Given the description of an element on the screen output the (x, y) to click on. 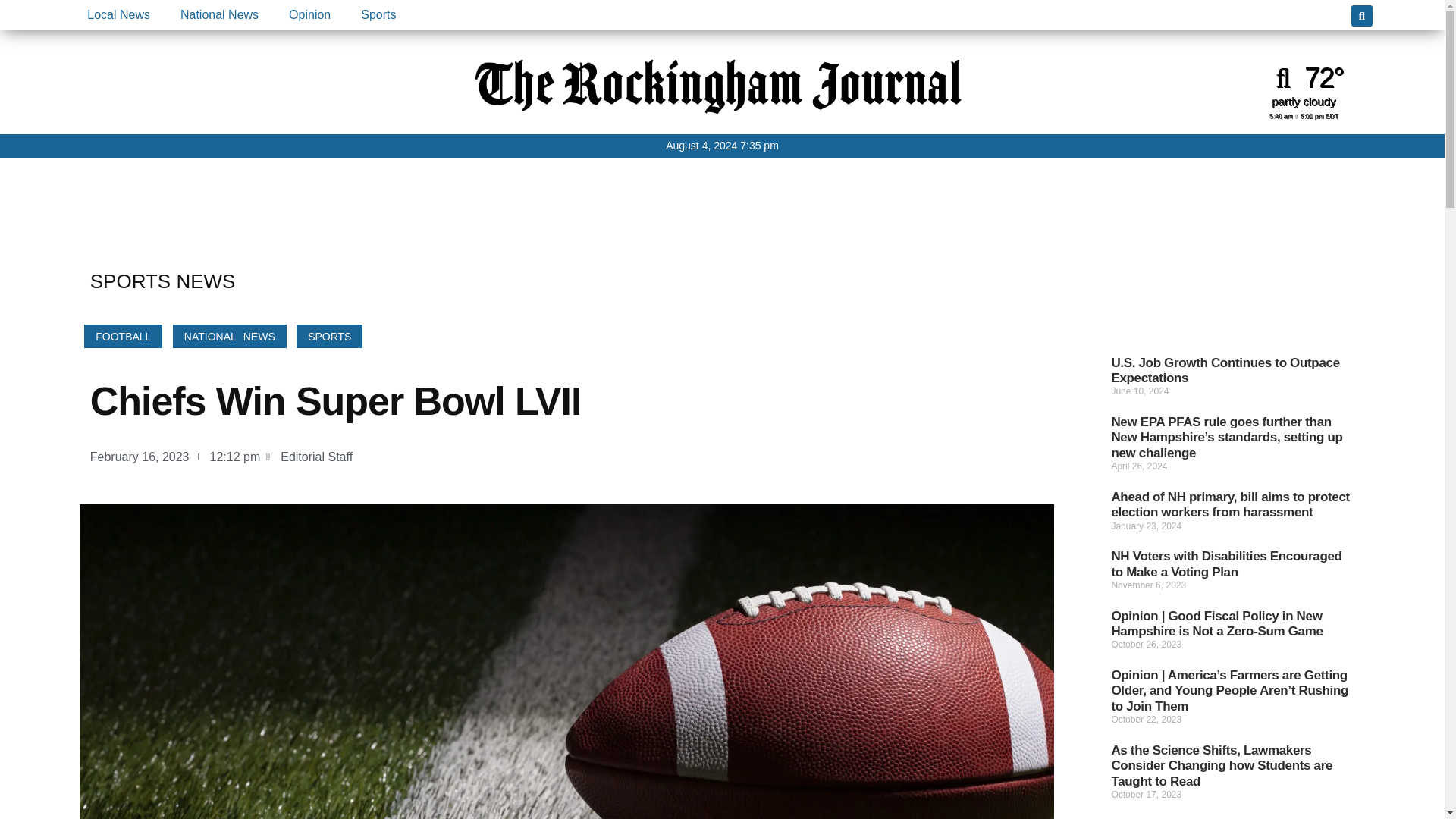
Opinion (309, 14)
National News (219, 14)
SPORTS (329, 336)
Sports (378, 14)
NH Voters with Disabilities Encouraged to Make a Voting Plan (1225, 563)
FOOTBALL (122, 336)
Local News (118, 14)
U.S. Job Growth Continues to Outpace Expectations  (1224, 369)
NATIONAL NEWS (229, 336)
